Given the description of an element on the screen output the (x, y) to click on. 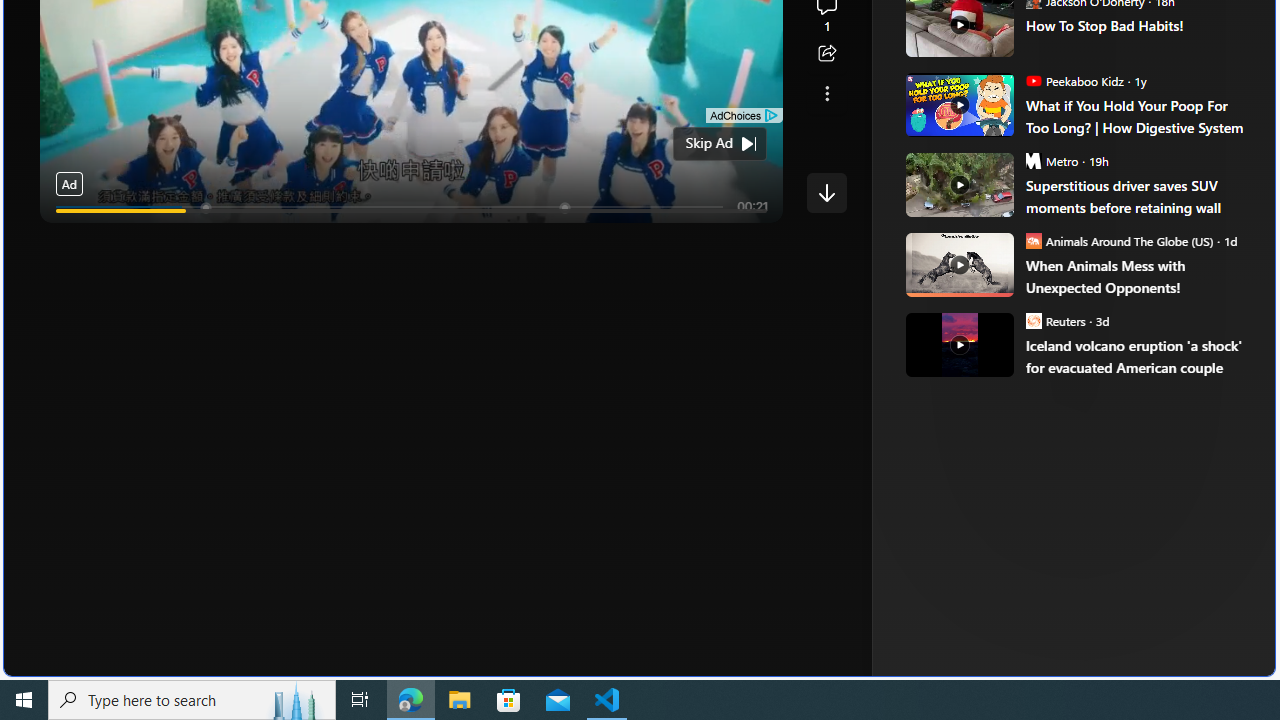
How To Stop Bad Habits! (1136, 24)
Metro (1033, 160)
Peekaboo Kidz Peekaboo Kidz (1074, 80)
video progress bar (411, 210)
Metro Metro (1052, 160)
Animals Around The Globe (US) Animals Around The Globe (US) (1119, 240)
Reuters (1033, 320)
Peekaboo Kidz (1033, 80)
